Given the description of an element on the screen output the (x, y) to click on. 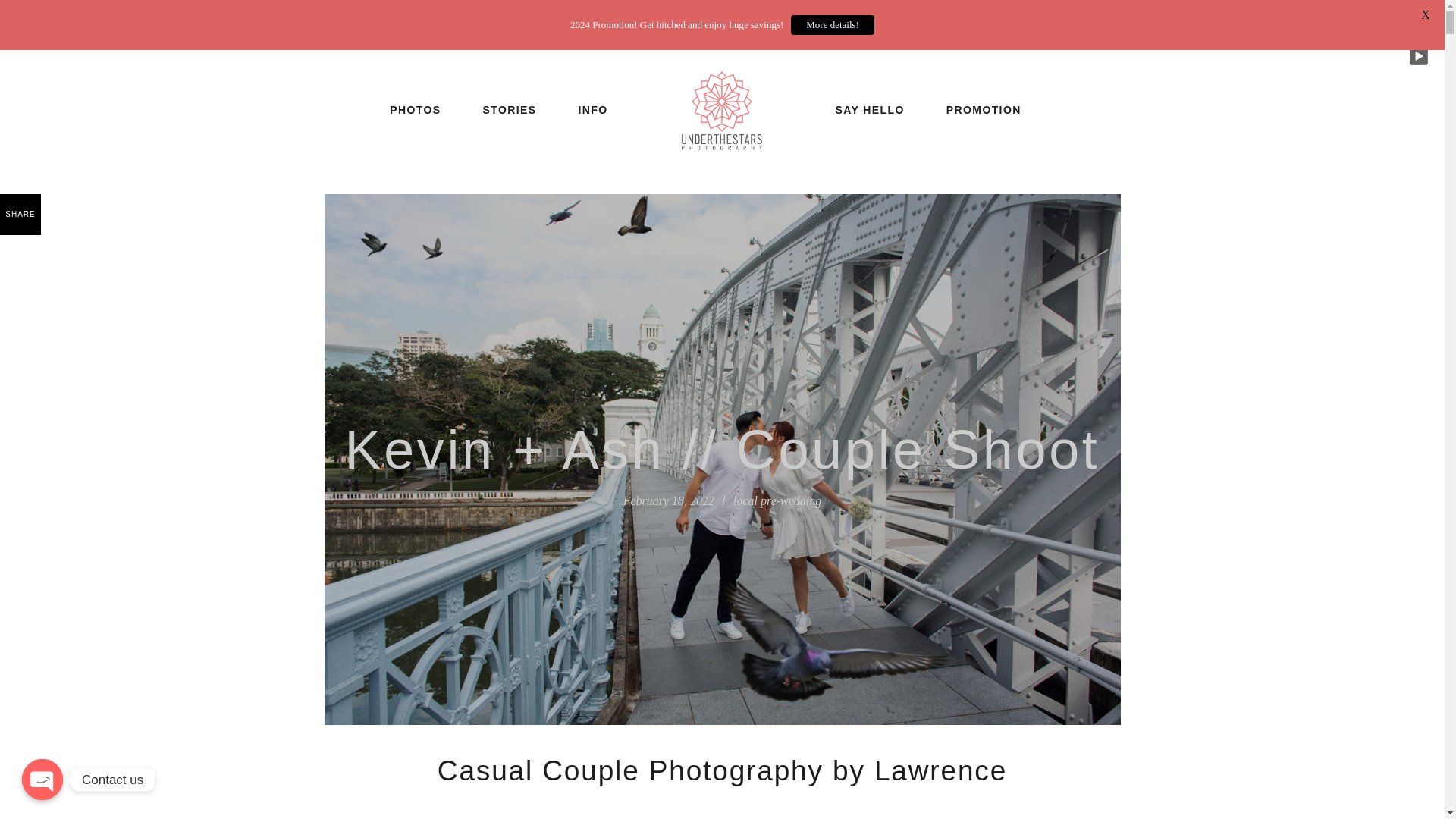
STORIES (510, 110)
PROMOTION (984, 110)
PHOTOS (414, 110)
SAY HELLO (870, 110)
INFO (592, 110)
